Given the description of an element on the screen output the (x, y) to click on. 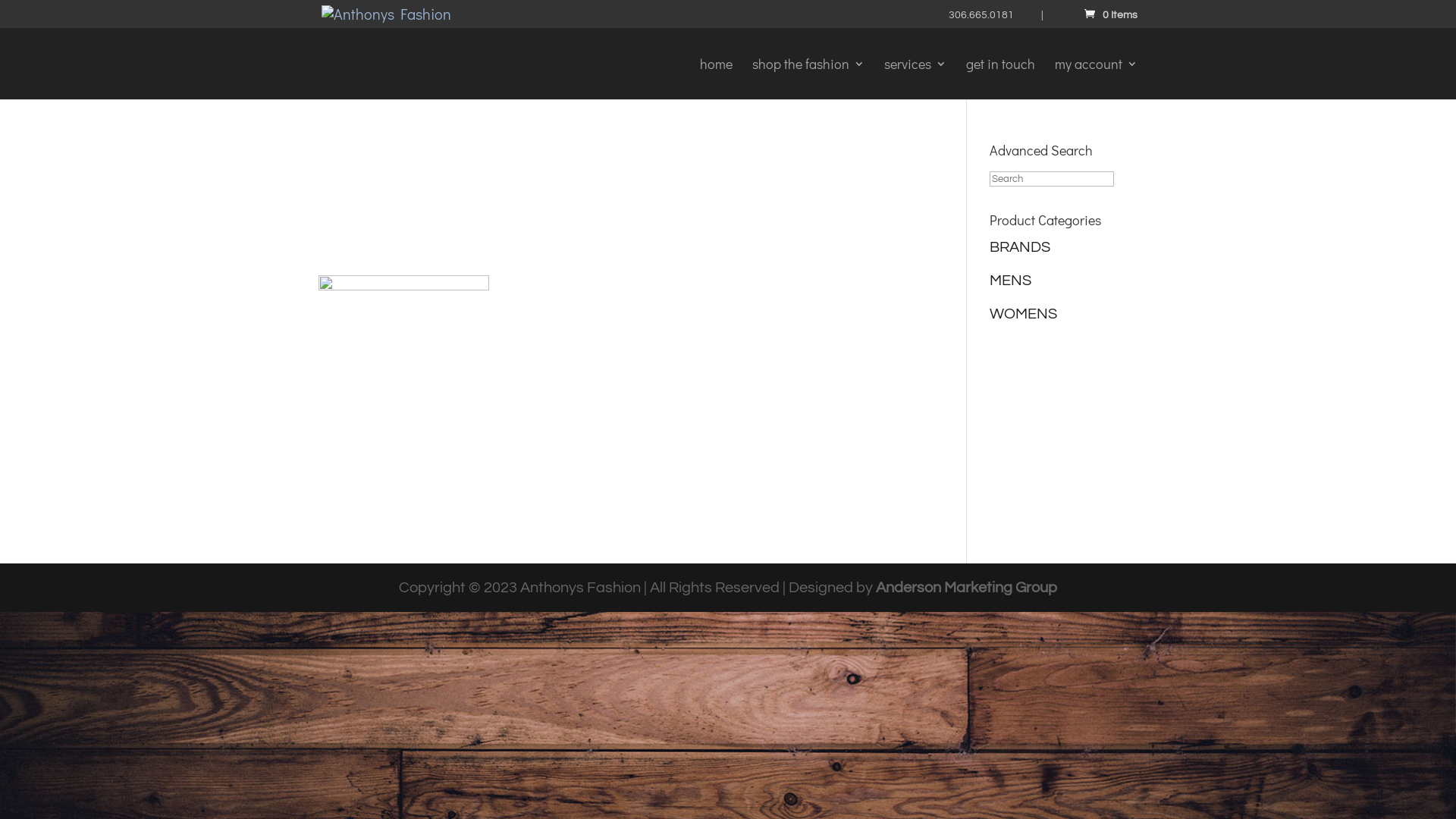
0 Items Element type: text (1109, 14)
WOMENS Element type: text (1023, 313)
BRANDS Element type: text (1019, 246)
home Element type: text (715, 78)
Anderson Marketing Group Element type: text (966, 587)
shop the fashion Element type: text (808, 78)
306.665.0181 Element type: text (980, 18)
get in touch Element type: text (1000, 78)
services Element type: text (915, 78)
my account Element type: text (1095, 78)
| Element type: text (1042, 18)
MENS Element type: text (1010, 280)
